Given the description of an element on the screen output the (x, y) to click on. 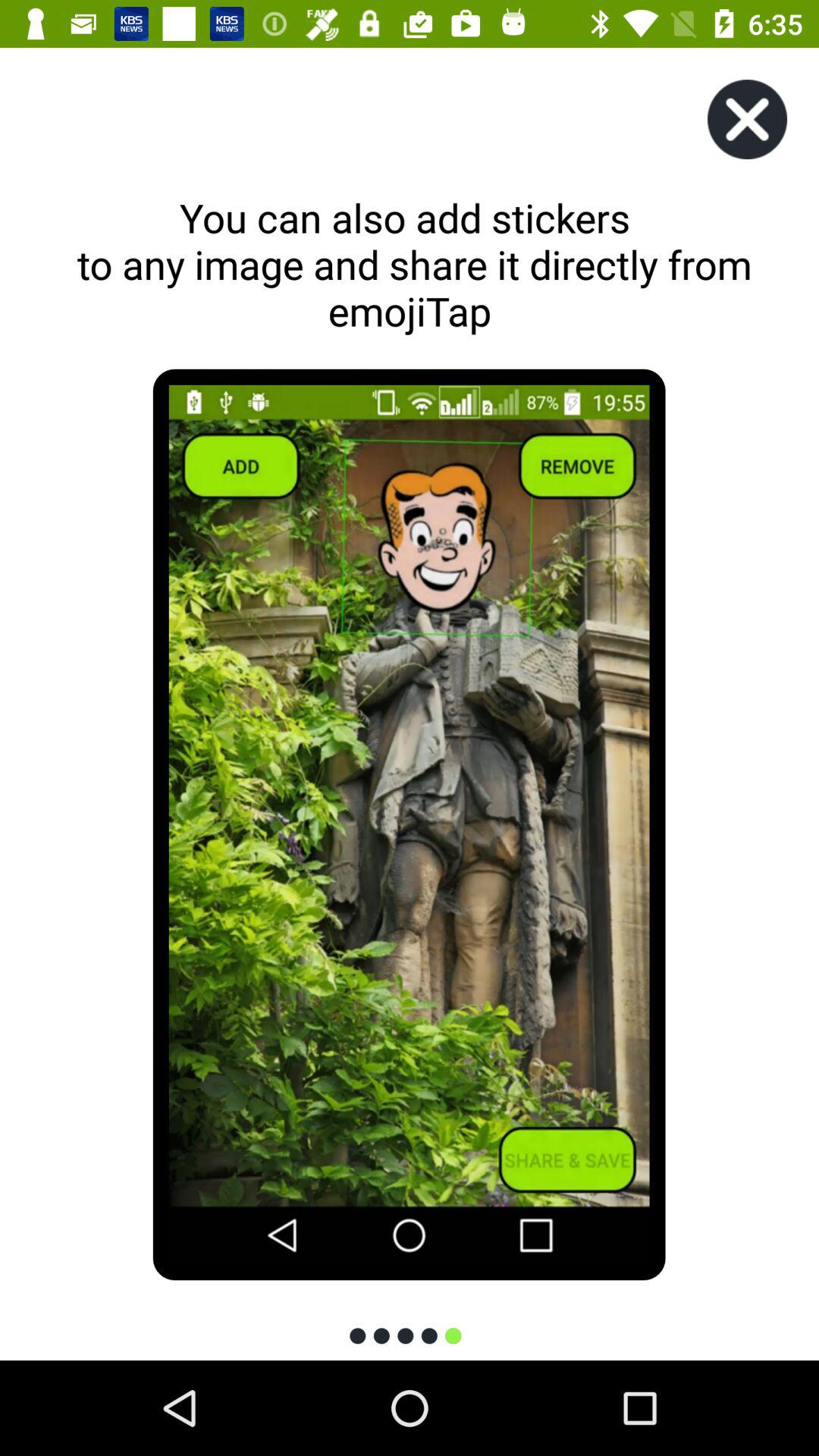
tap icon above the you can also (747, 119)
